Given the description of an element on the screen output the (x, y) to click on. 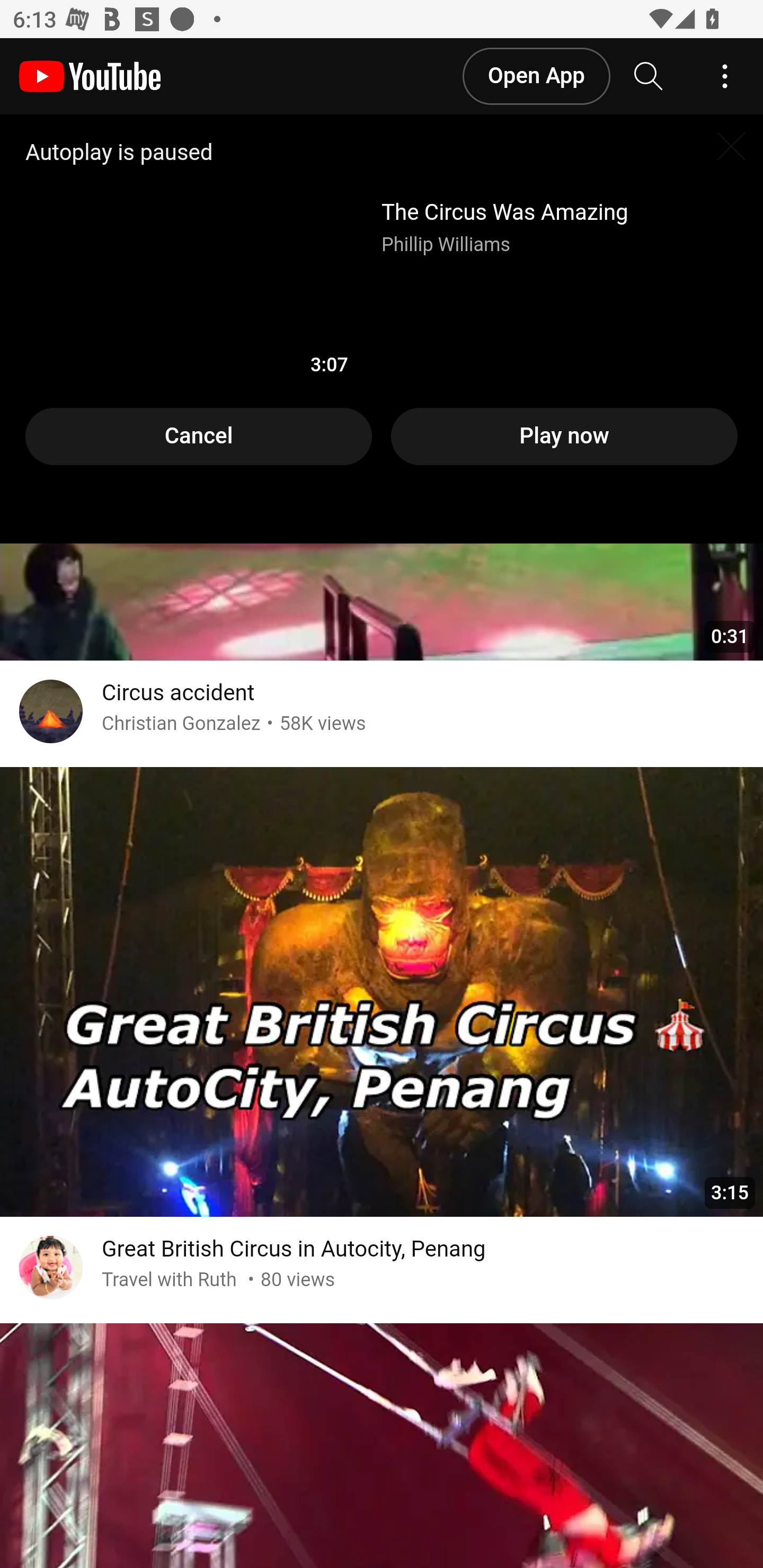
YouTube (89, 76)
Search YouTube (648, 76)
Account (724, 76)
Open App (535, 76)
YouTube Video Player (381, 329)
Go to channel (50, 713)
Go to channel (50, 1270)
